Given the description of an element on the screen output the (x, y) to click on. 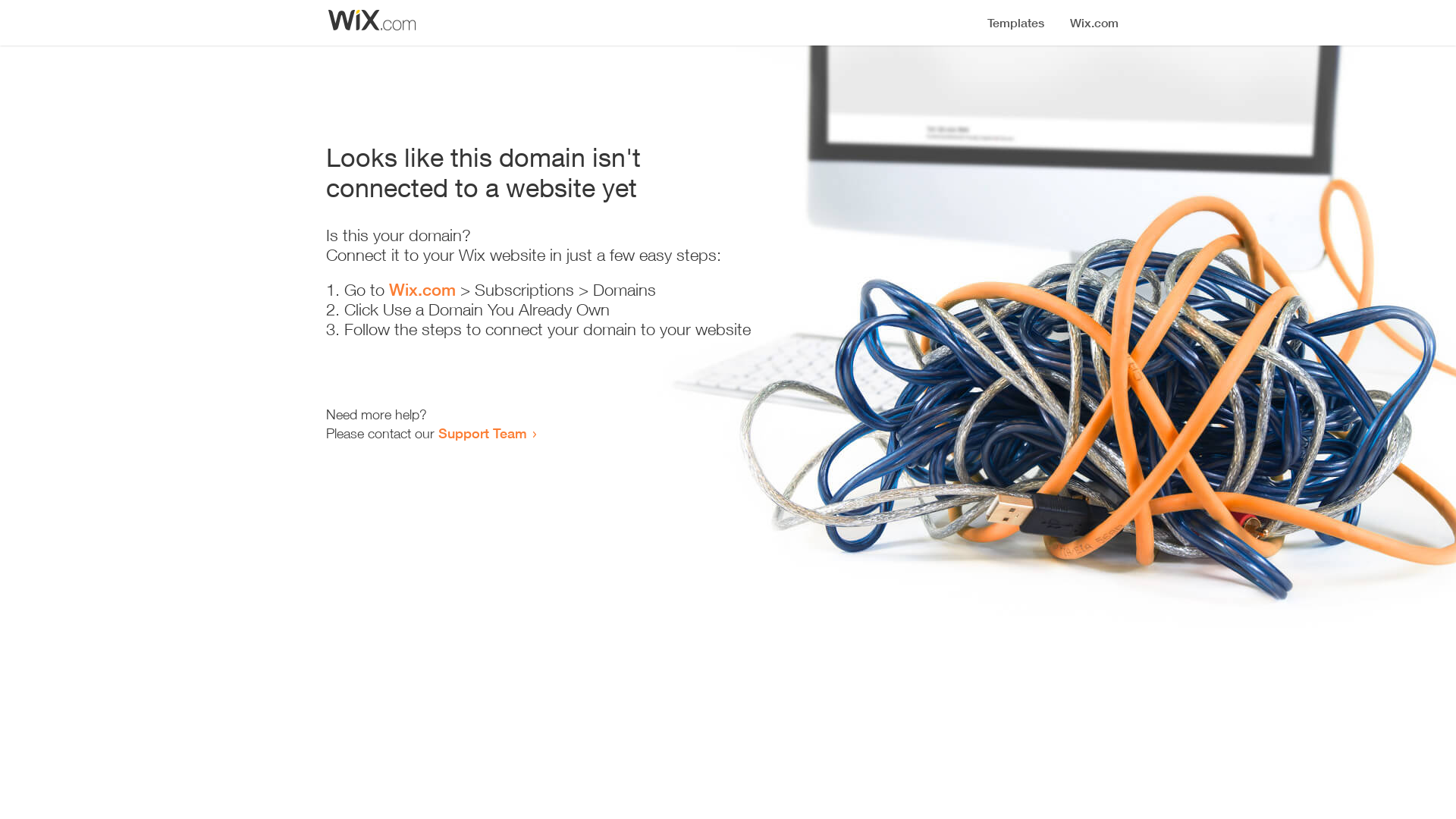
Support Team Element type: text (482, 432)
Wix.com Element type: text (422, 289)
